Given the description of an element on the screen output the (x, y) to click on. 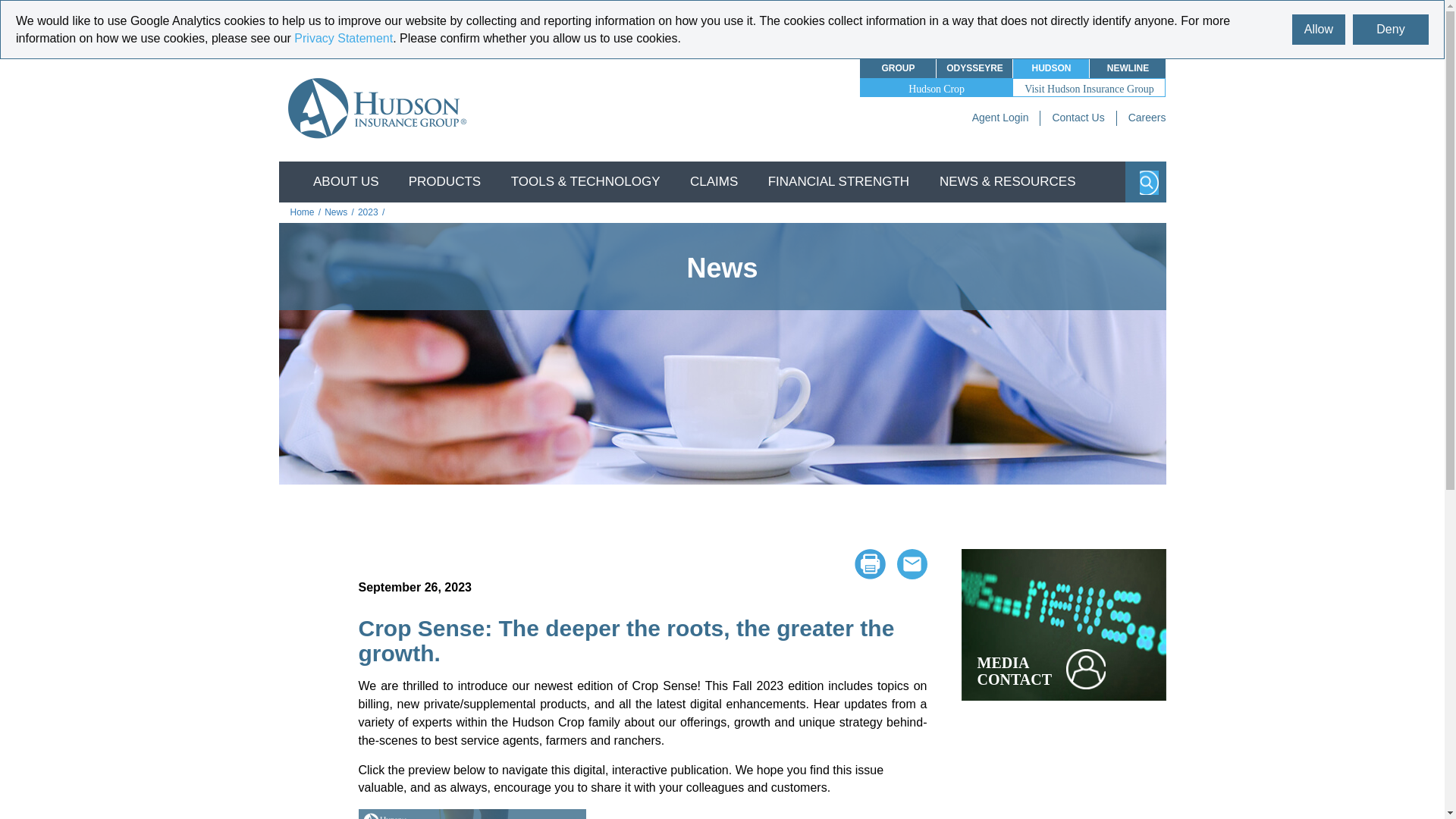
PRODUCTS (444, 181)
HUDSON (1051, 67)
Careers (1147, 117)
ABOUT US (346, 181)
ODYSSEYRE (973, 67)
Go to the 2023 archives (371, 212)
search form (1145, 181)
Agent Login (1000, 117)
Hudson Crop (935, 88)
Visit Hudson Insurance Group (1089, 88)
Go to News (338, 212)
NEWLINE (1127, 67)
Go to Home (304, 212)
Contact Us (1077, 117)
GROUP (898, 67)
